Given the description of an element on the screen output the (x, y) to click on. 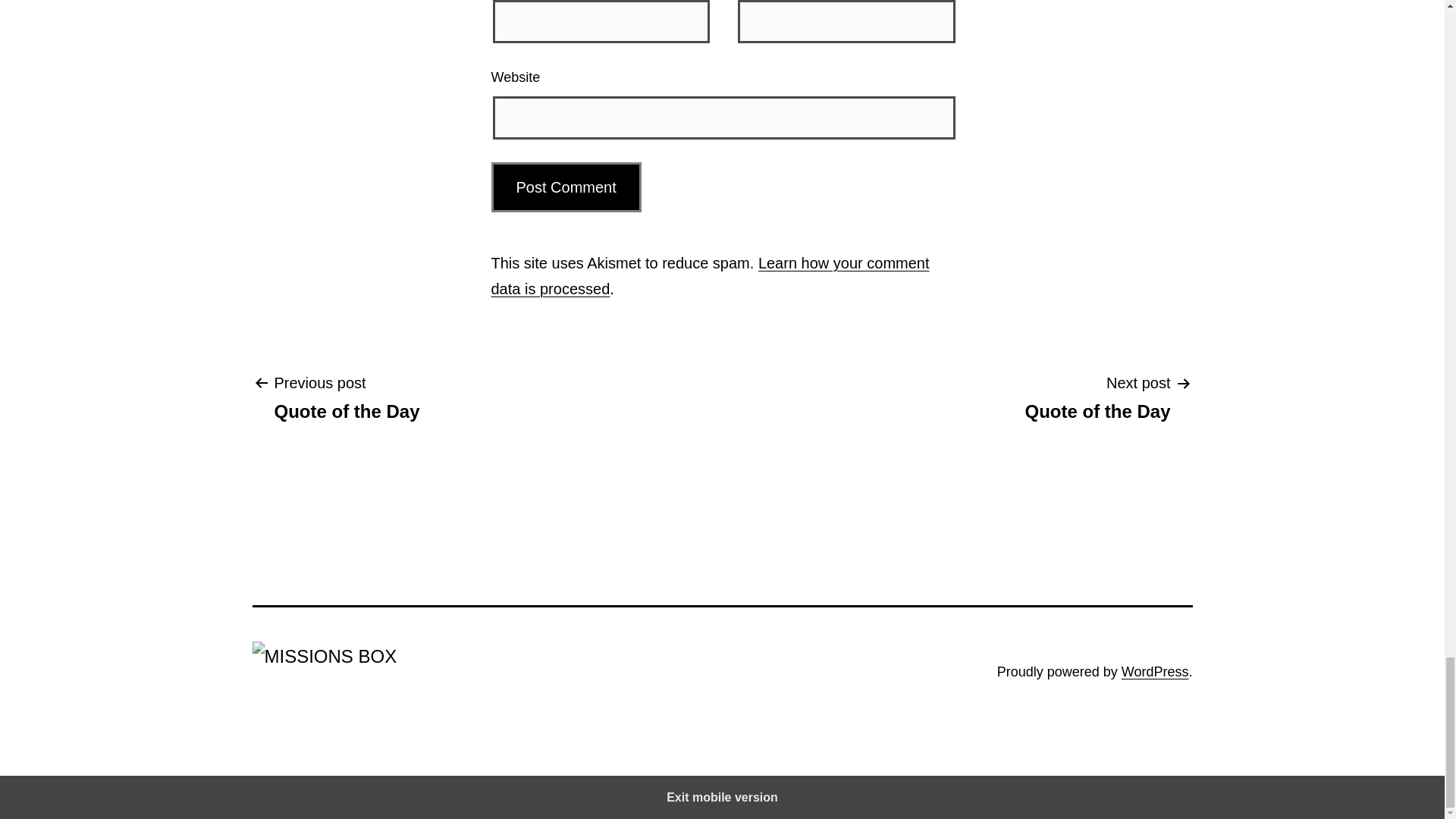
Post Comment (567, 187)
